Given the description of an element on the screen output the (x, y) to click on. 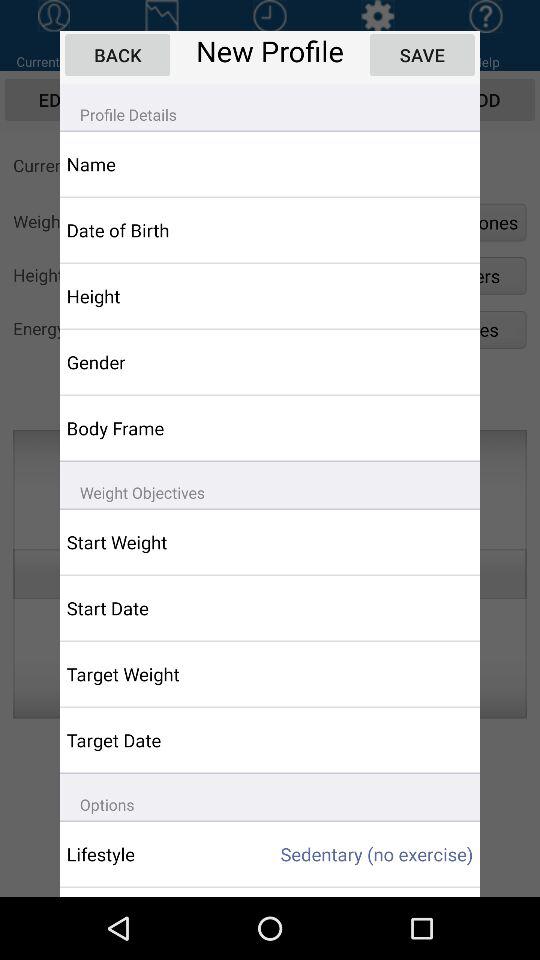
open the gender icon (156, 361)
